Given the description of an element on the screen output the (x, y) to click on. 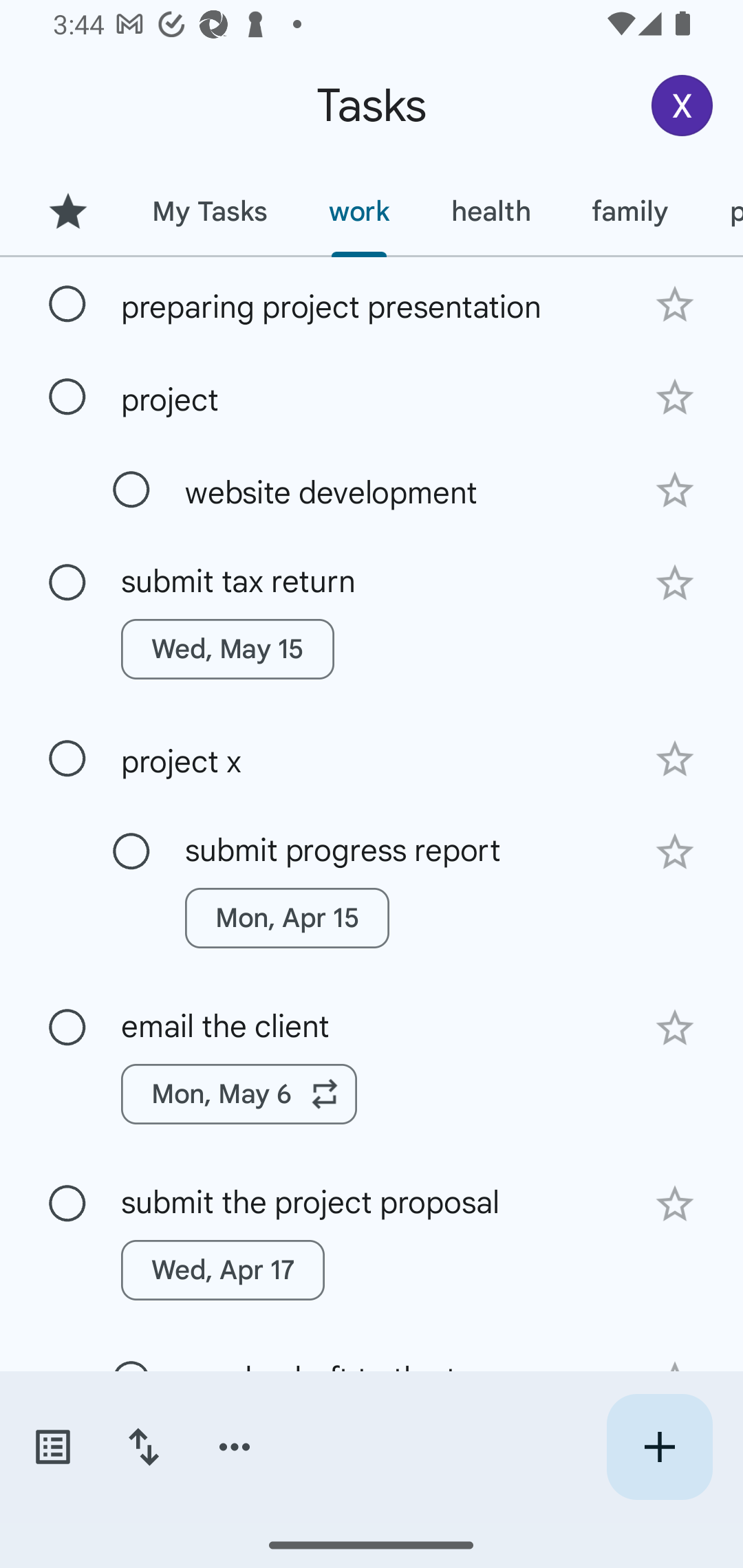
Starred (67, 211)
My Tasks (209, 211)
health (490, 211)
family (629, 211)
Add star (674, 303)
Mark as complete (67, 304)
Add star (674, 397)
Mark as complete (67, 397)
Add star (674, 490)
Mark as complete (131, 489)
Add star (674, 582)
Mark as complete (67, 582)
Wed, May 15 (227, 648)
Add star (674, 758)
Mark as complete (67, 759)
Add star (674, 850)
Mark as complete (131, 851)
Mon, Apr 15 (287, 917)
Add star (674, 1028)
Mark as complete (67, 1027)
Mon, May 6 (239, 1093)
Add star (674, 1203)
Mark as complete (67, 1204)
Wed, Apr 17 (222, 1269)
Switch task lists (52, 1447)
Create new task (659, 1446)
Fri, Apr 12 (276, 1445)
Change sort order (143, 1446)
More options (234, 1446)
